Given the description of an element on the screen output the (x, y) to click on. 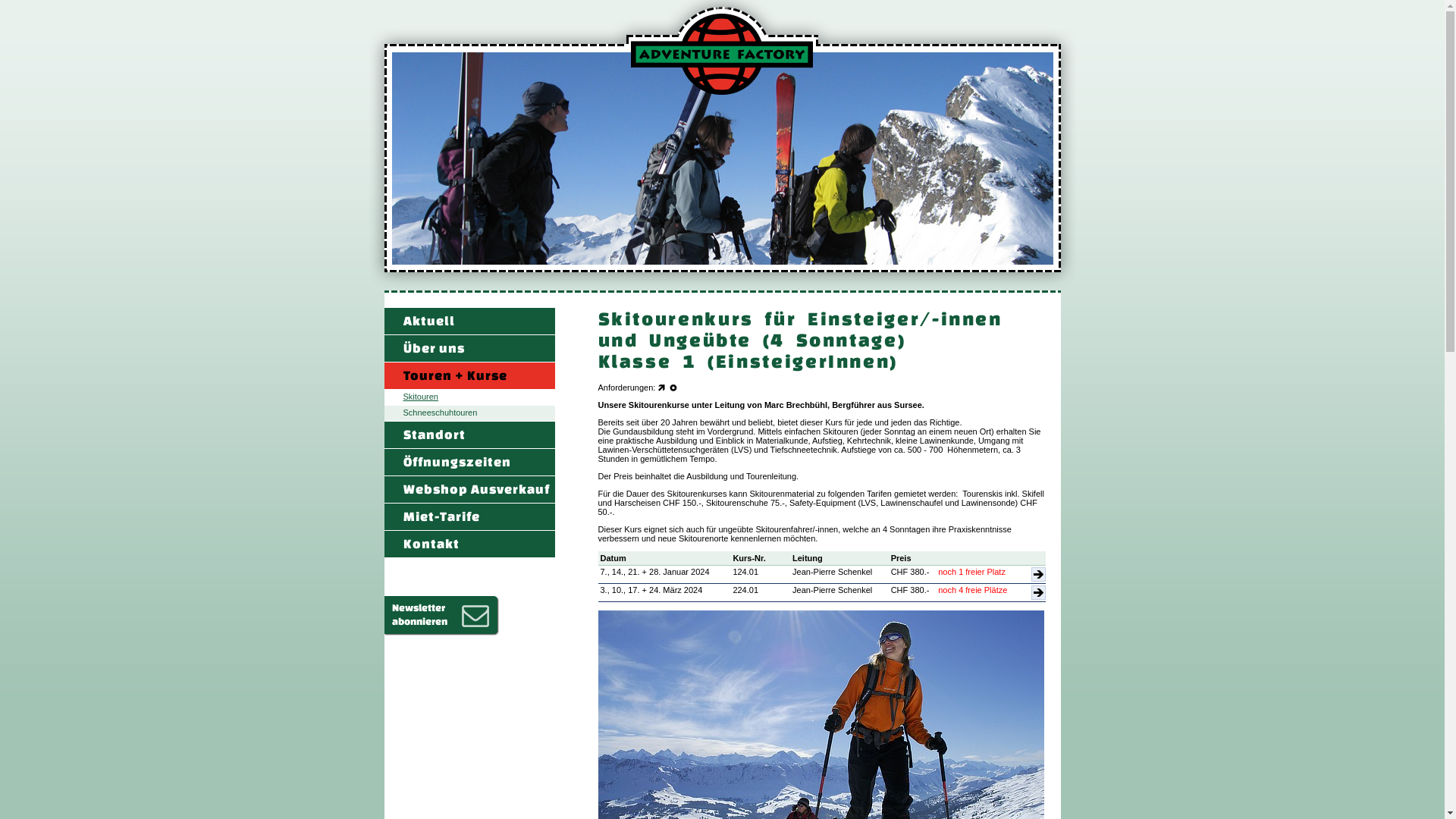
Webshop Ausverkauf Element type: text (468, 489)
Kontakt Element type: text (468, 544)
Standort Element type: text (468, 434)
Newsletter
abonnieren Element type: text (442, 612)
Schneeschuhtouren Element type: text (468, 413)
Aktuell Element type: text (468, 321)
Touren + Kurse Element type: text (468, 375)
Miet-Tarife Element type: text (468, 516)
Skitouren Element type: text (468, 397)
